Given the description of an element on the screen output the (x, y) to click on. 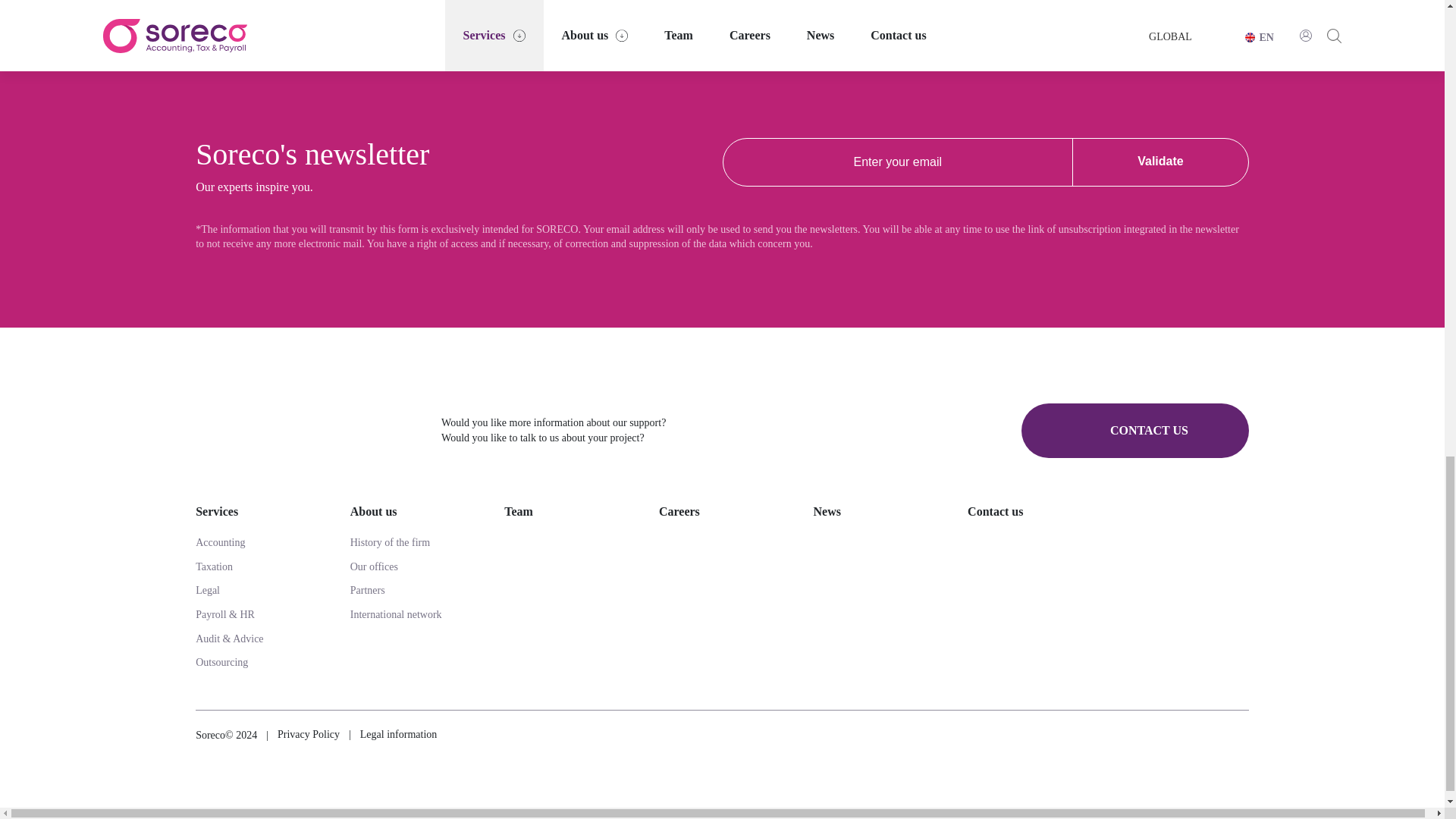
Twitter (1200, 734)
Accueil (307, 430)
Linkedin (1242, 735)
